Given the description of an element on the screen output the (x, y) to click on. 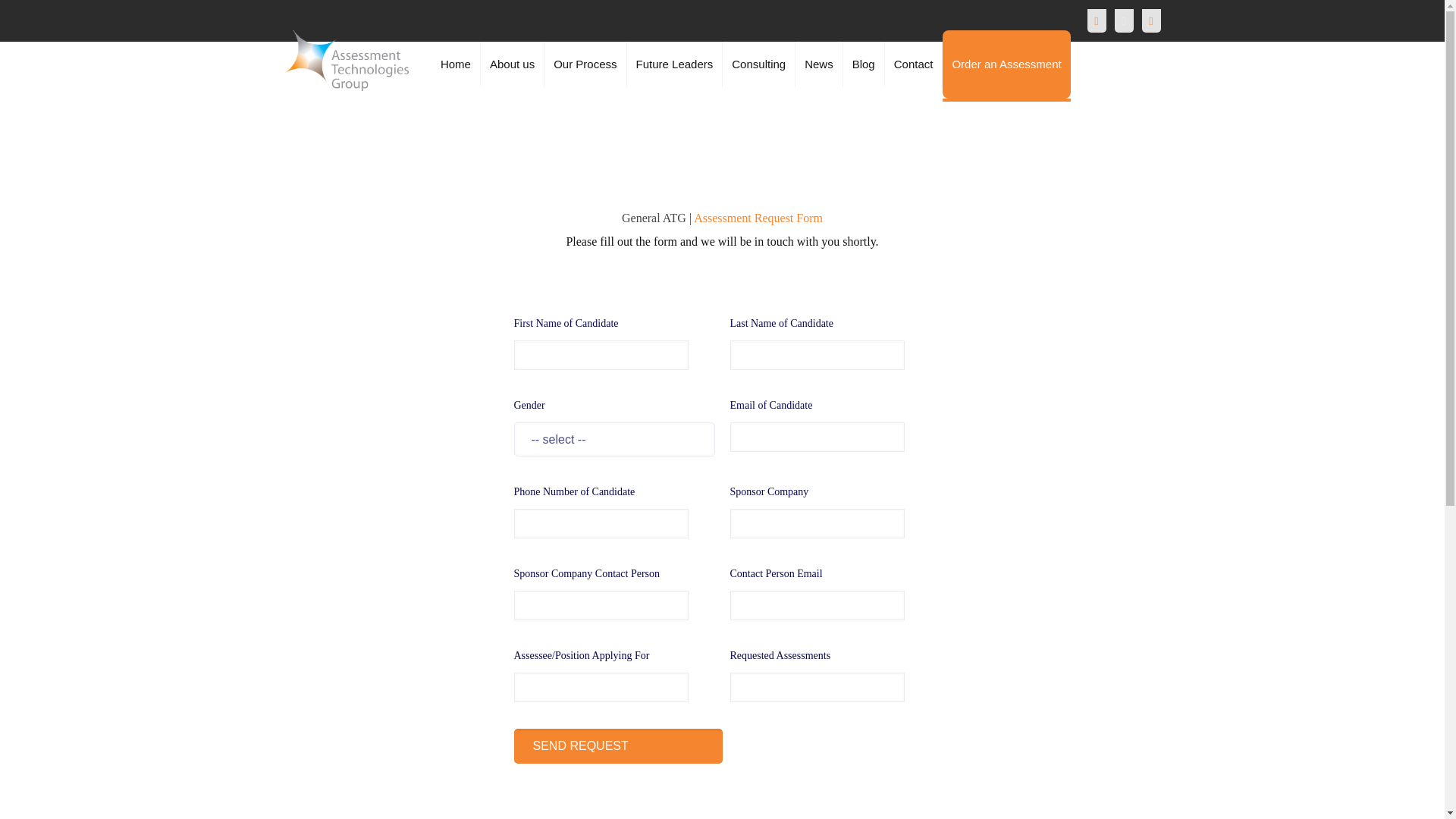
SEND REQUEST (617, 745)
Future Leaders (675, 64)
Our Process (585, 64)
Facebook (1096, 21)
LinkedIn (1150, 21)
Consulting (758, 64)
Order an Assessment (1006, 64)
About us (512, 64)
